Given the description of an element on the screen output the (x, y) to click on. 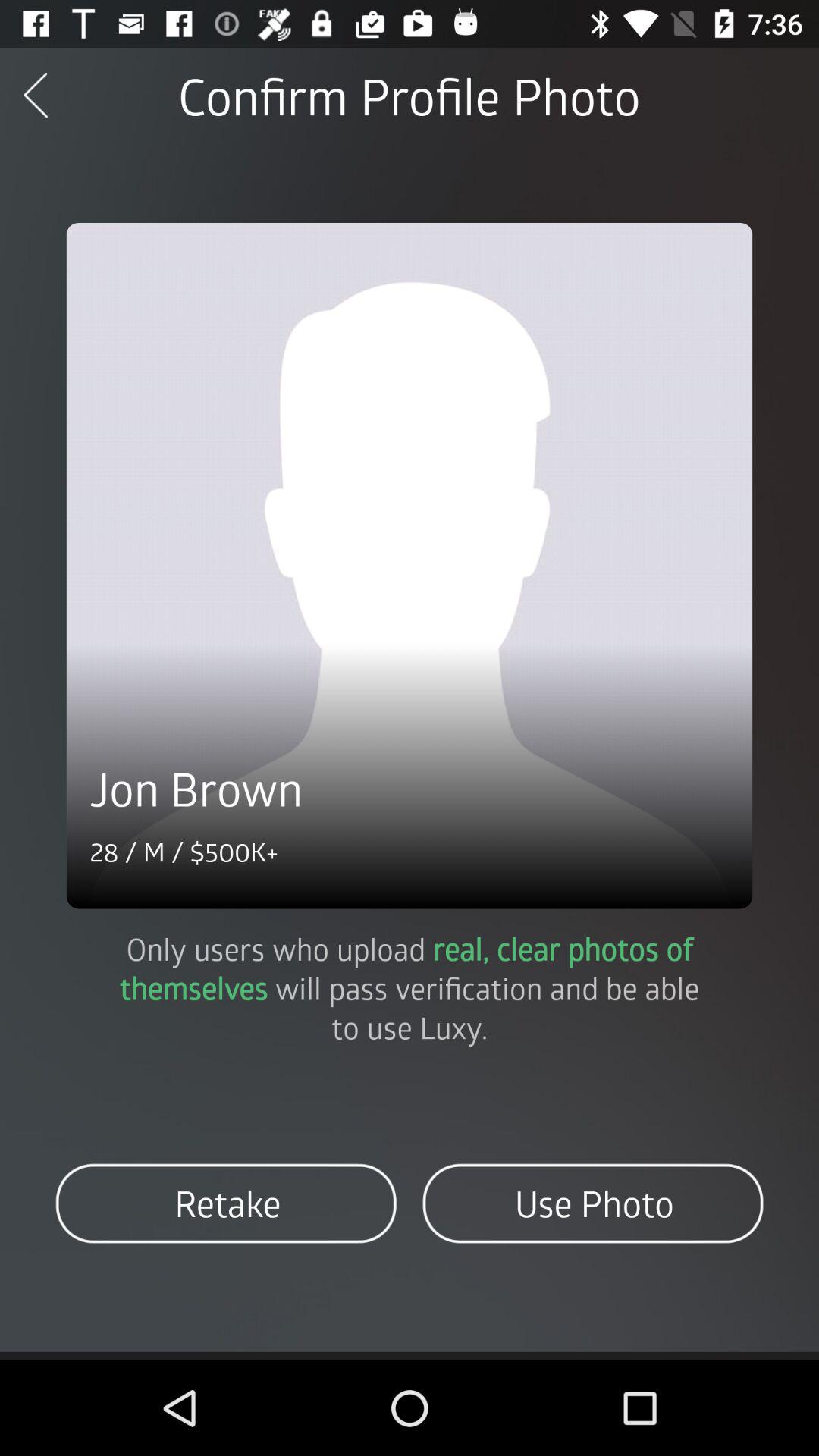
swipe until the retake icon (225, 1203)
